Given the description of an element on the screen output the (x, y) to click on. 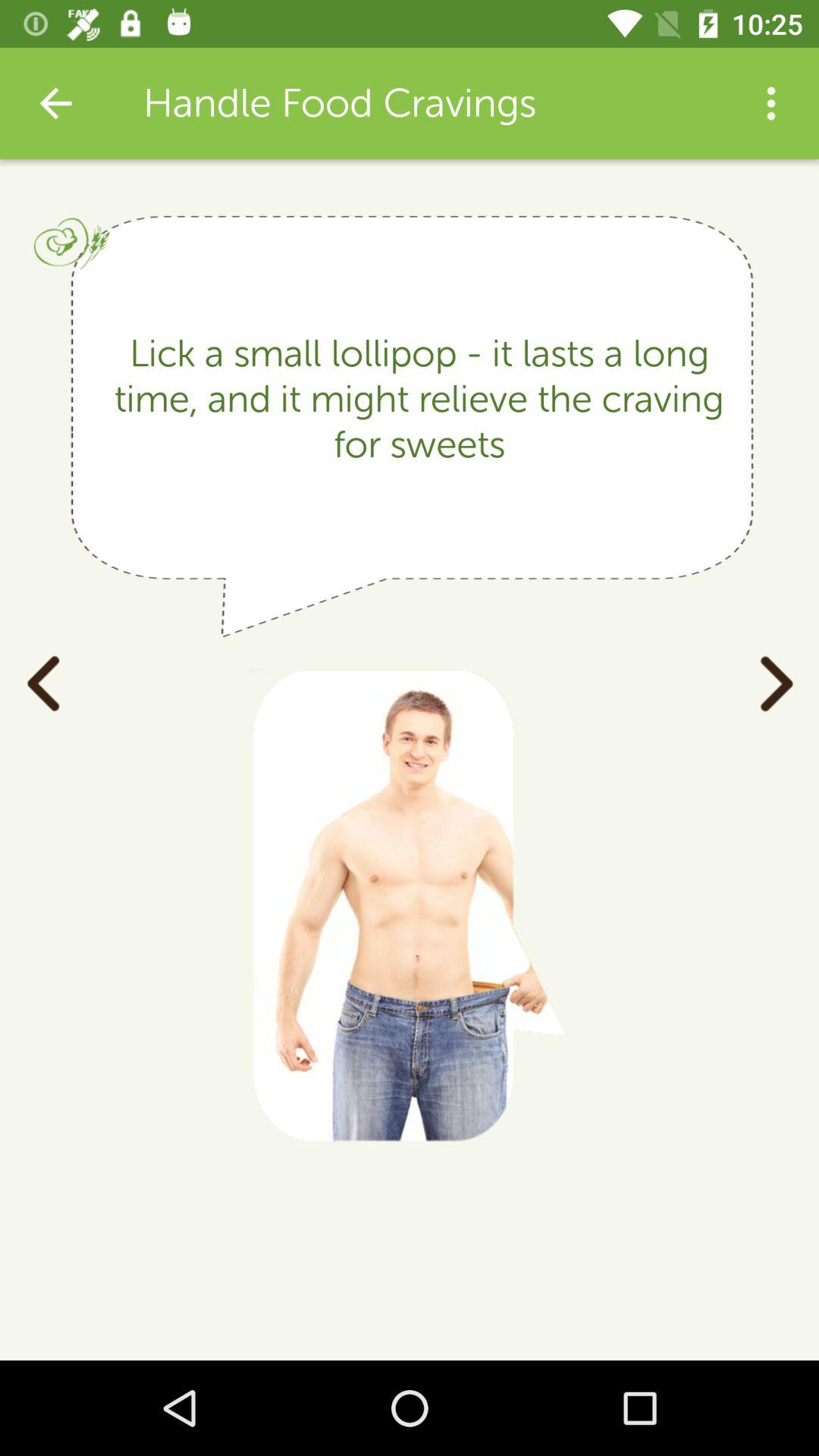
turn on icon to the right of handle food cravings (771, 103)
